Given the description of an element on the screen output the (x, y) to click on. 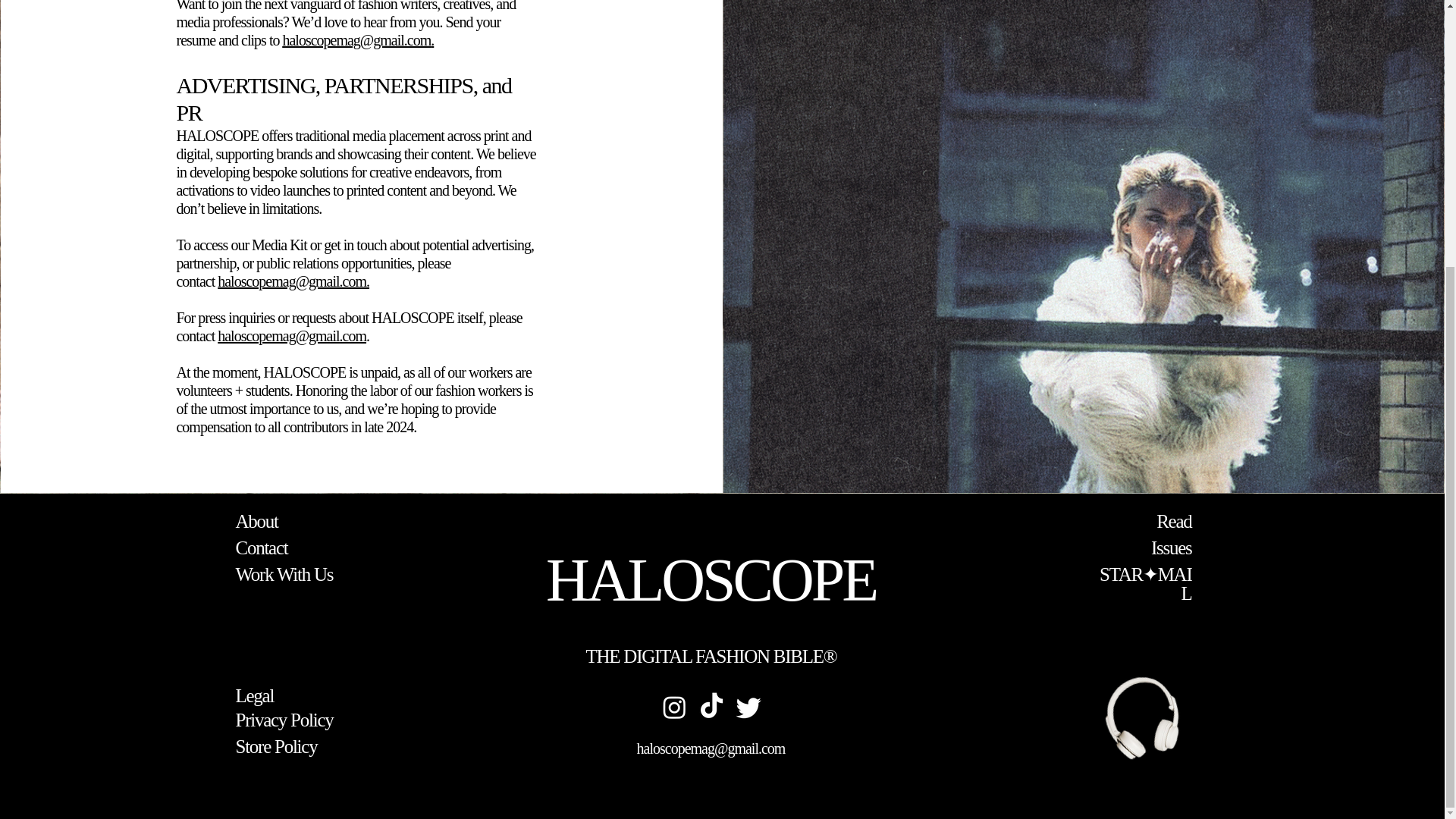
Contact (260, 547)
Privacy Policy (283, 720)
Issues (1171, 547)
Store Policy (275, 746)
About (256, 521)
Legal (253, 695)
Work With Us (283, 574)
Read (1173, 521)
